Given the description of an element on the screen output the (x, y) to click on. 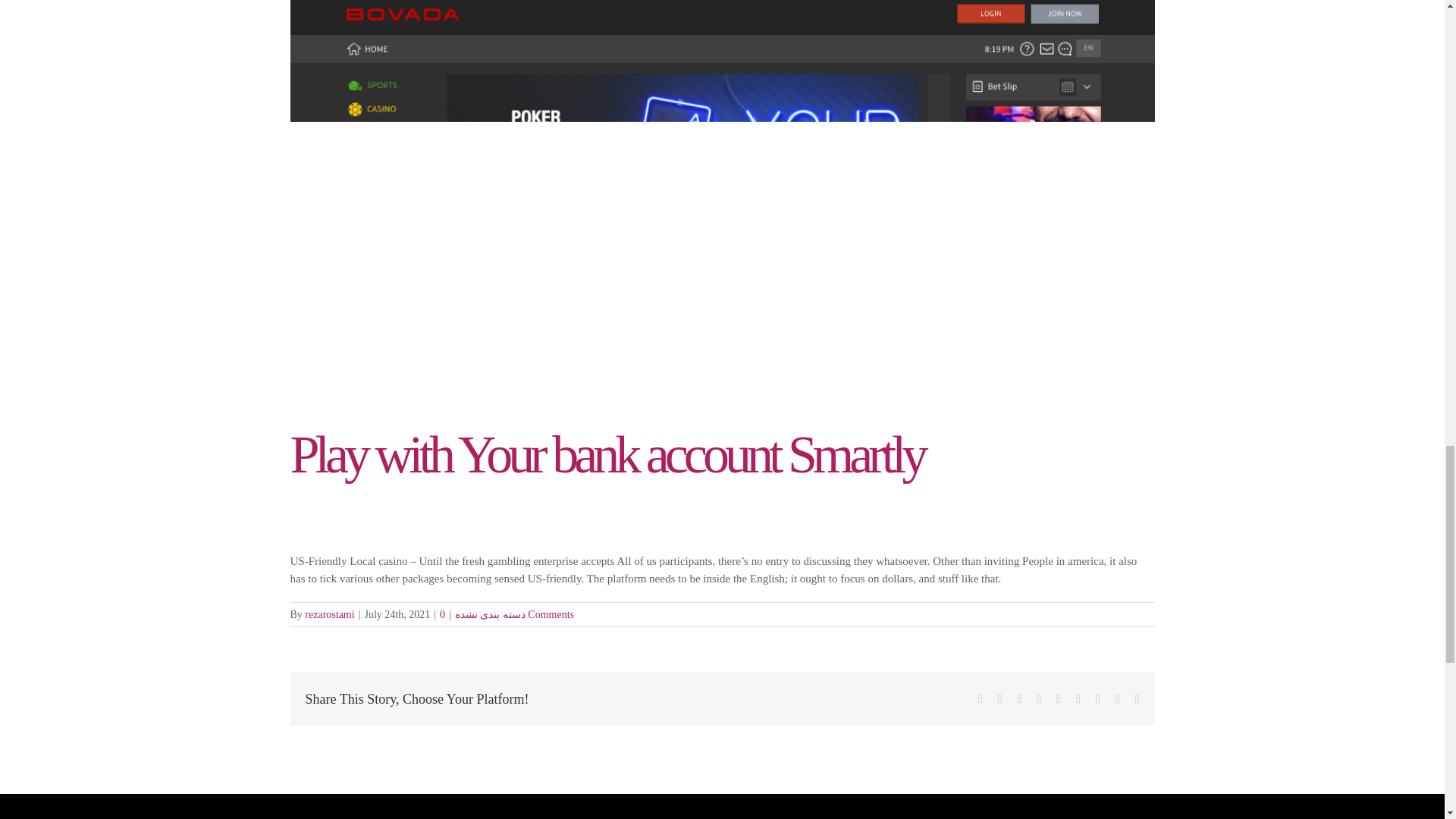
0 Comments (506, 614)
Posts by rezarostami (328, 614)
rezarostami (328, 614)
